Given the description of an element on the screen output the (x, y) to click on. 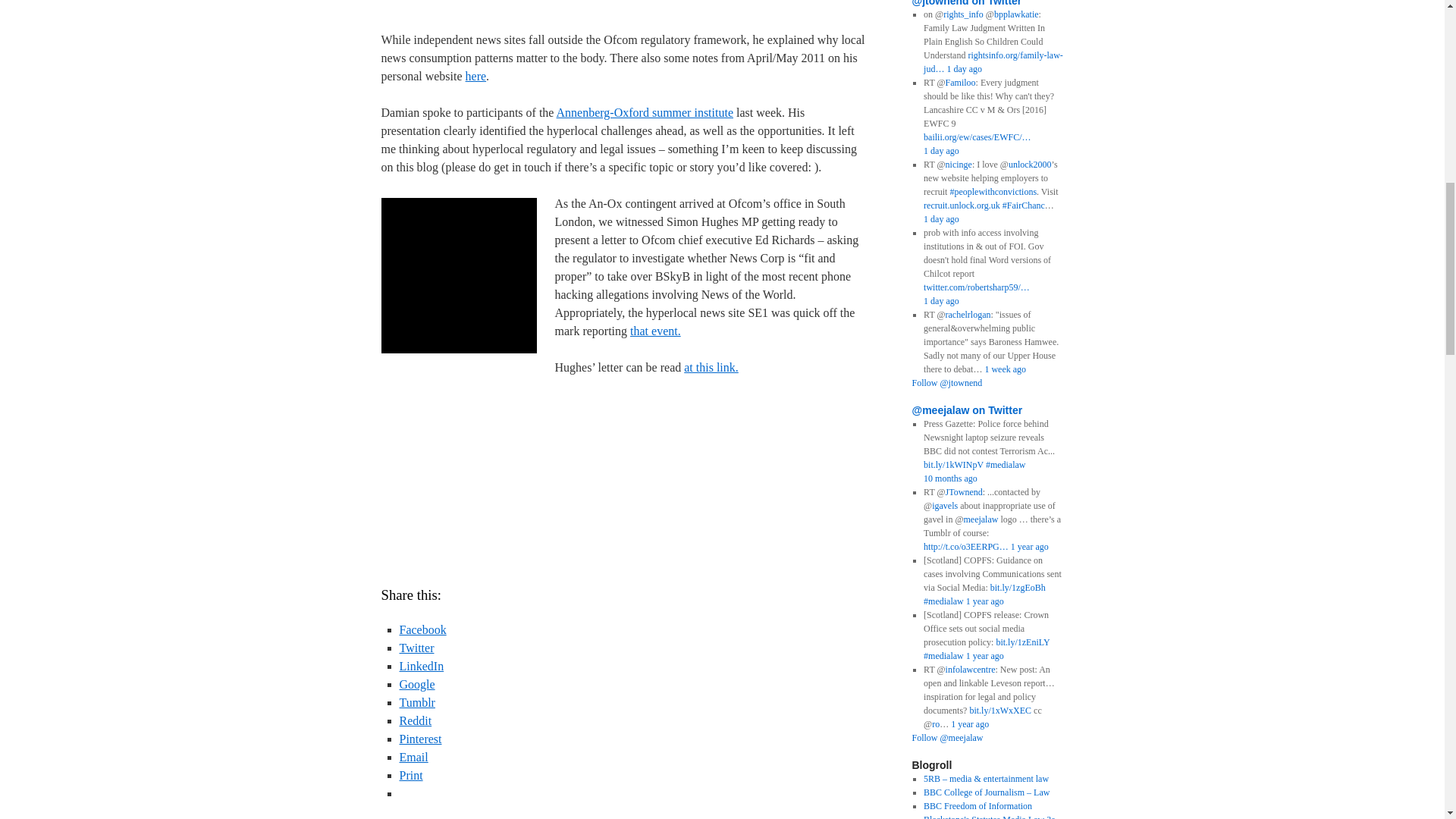
here (475, 75)
Annenberg-Oxford summer institute (644, 112)
LinkedIn (421, 666)
Print (410, 775)
Pinterest (419, 738)
Click to share on LinkedIn (421, 666)
photo (457, 275)
Click to share on Twitter (415, 647)
at this link. (711, 367)
Email (413, 757)
